Given the description of an element on the screen output the (x, y) to click on. 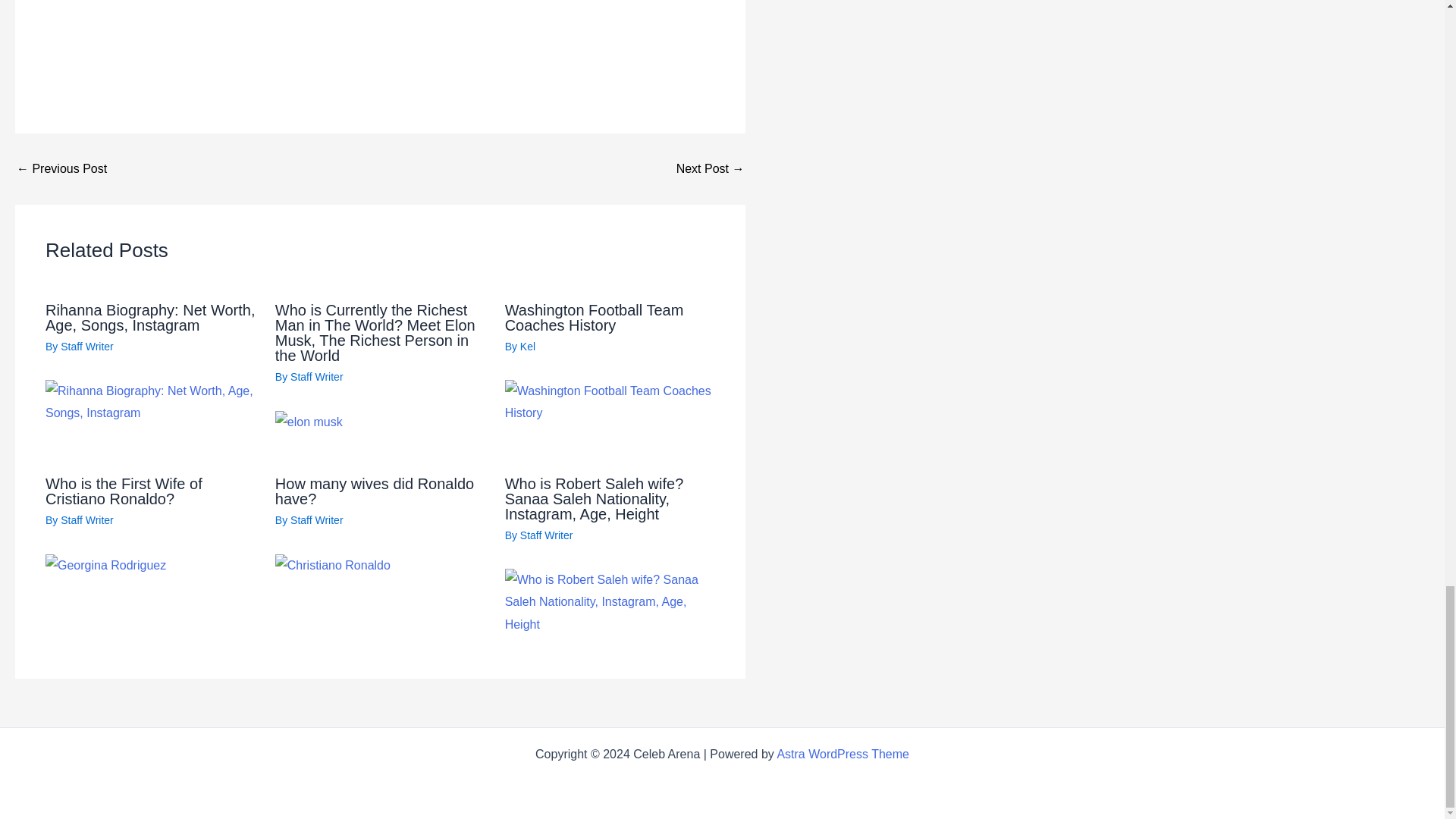
View all posts by Staff Writer (316, 520)
View all posts by Staff Writer (87, 346)
Mandira Bedi Children: Meet Tara Bedi Kaushal and Vir (710, 168)
View all posts by Staff Writer (546, 535)
Advertisement (380, 34)
View all posts by Staff Writer (87, 520)
View all posts by Kel (527, 346)
View all posts by Staff Writer (316, 377)
Amina Muaddi Children: Does Amina Muaddi Have Children? (61, 168)
